Given the description of an element on the screen output the (x, y) to click on. 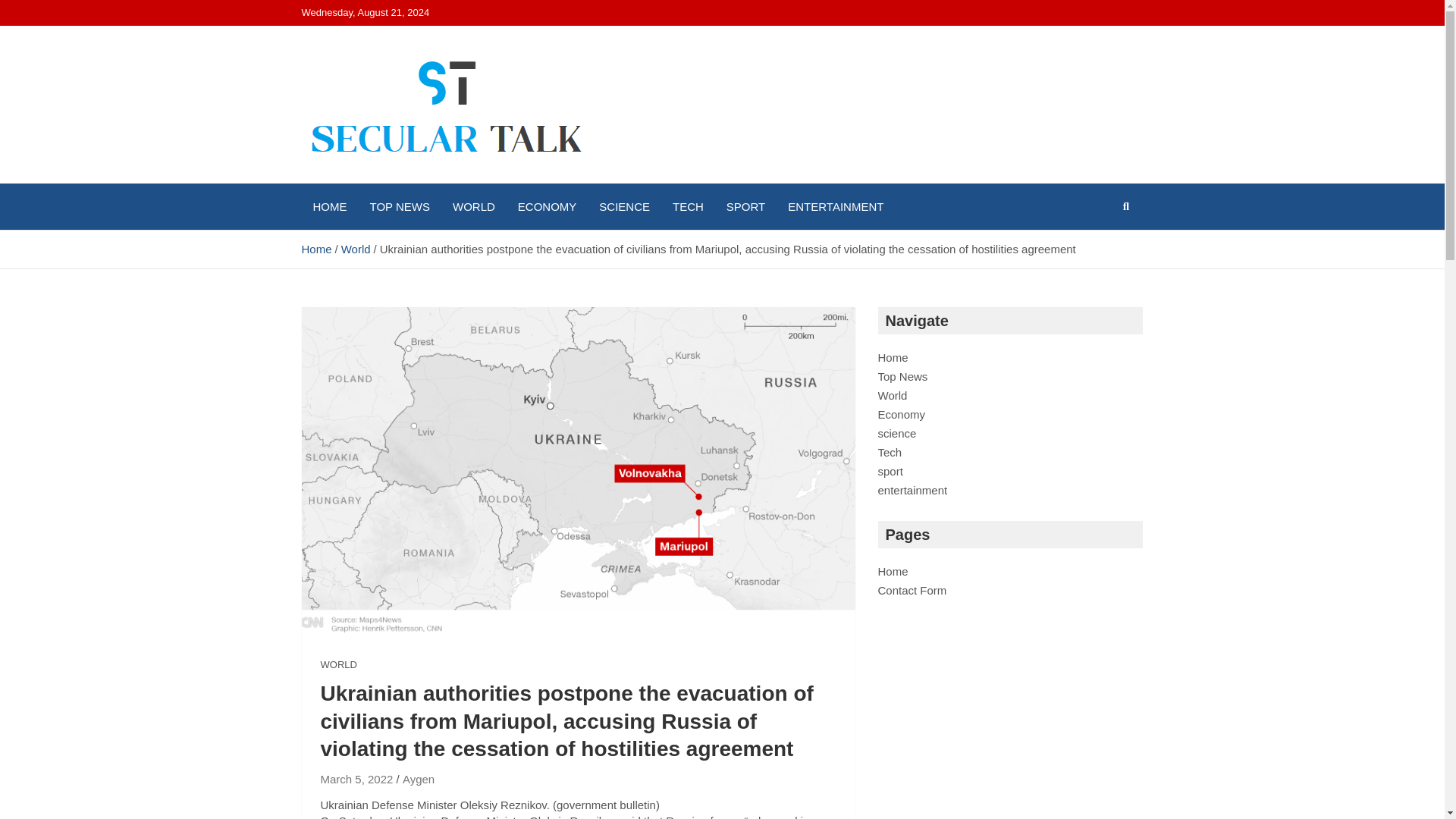
Home (316, 248)
ENTERTAINMENT (835, 206)
WORLD (473, 206)
World (892, 395)
TOP NEWS (399, 206)
Secular Talk (390, 180)
World (355, 248)
HOME (329, 206)
March 5, 2022 (356, 779)
ECONOMY (547, 206)
